Given the description of an element on the screen output the (x, y) to click on. 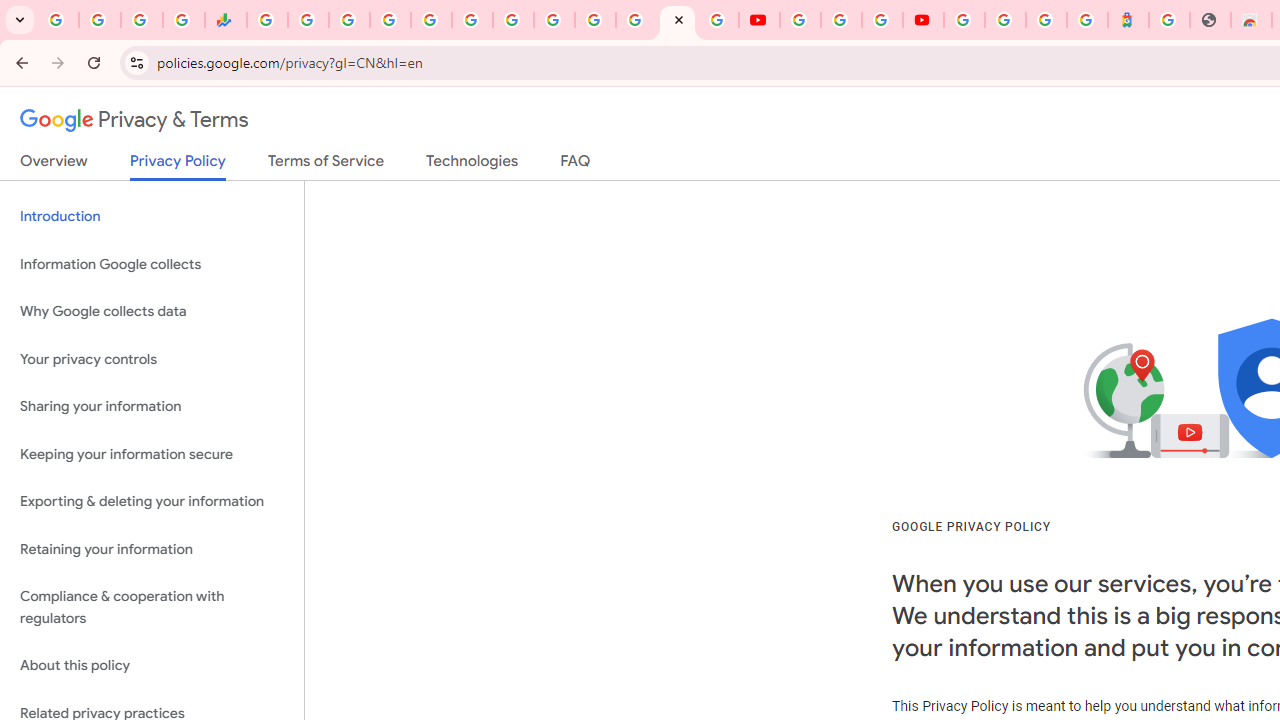
Retaining your information (152, 548)
Atour Hotel - Google hotels (1128, 20)
Why Google collects data (152, 312)
YouTube (553, 20)
Create your Google Account (881, 20)
